Given the description of an element on the screen output the (x, y) to click on. 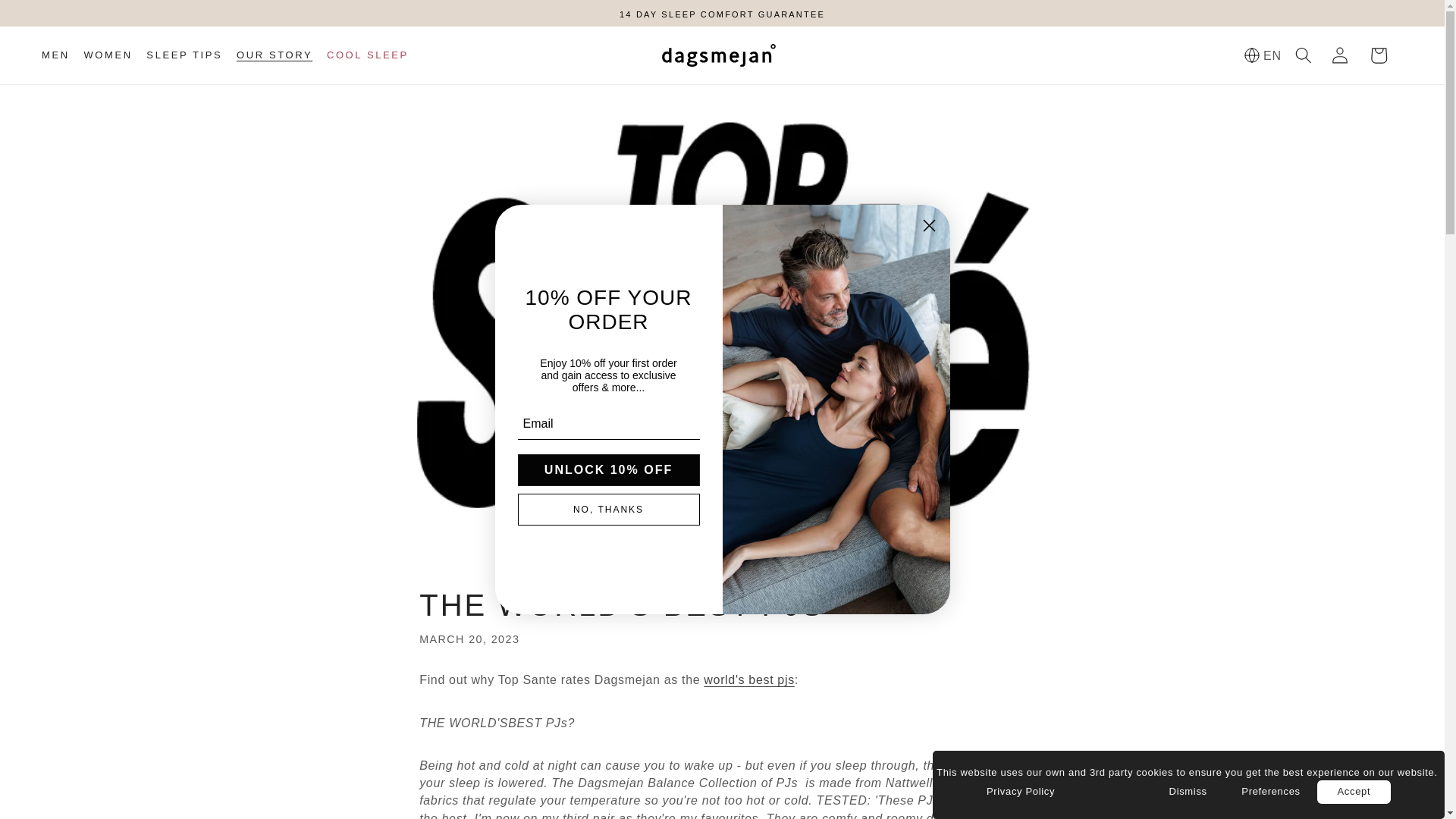
SKIP TO CONTENT (50, 19)
world's best pjs (748, 679)
